Given the description of an element on the screen output the (x, y) to click on. 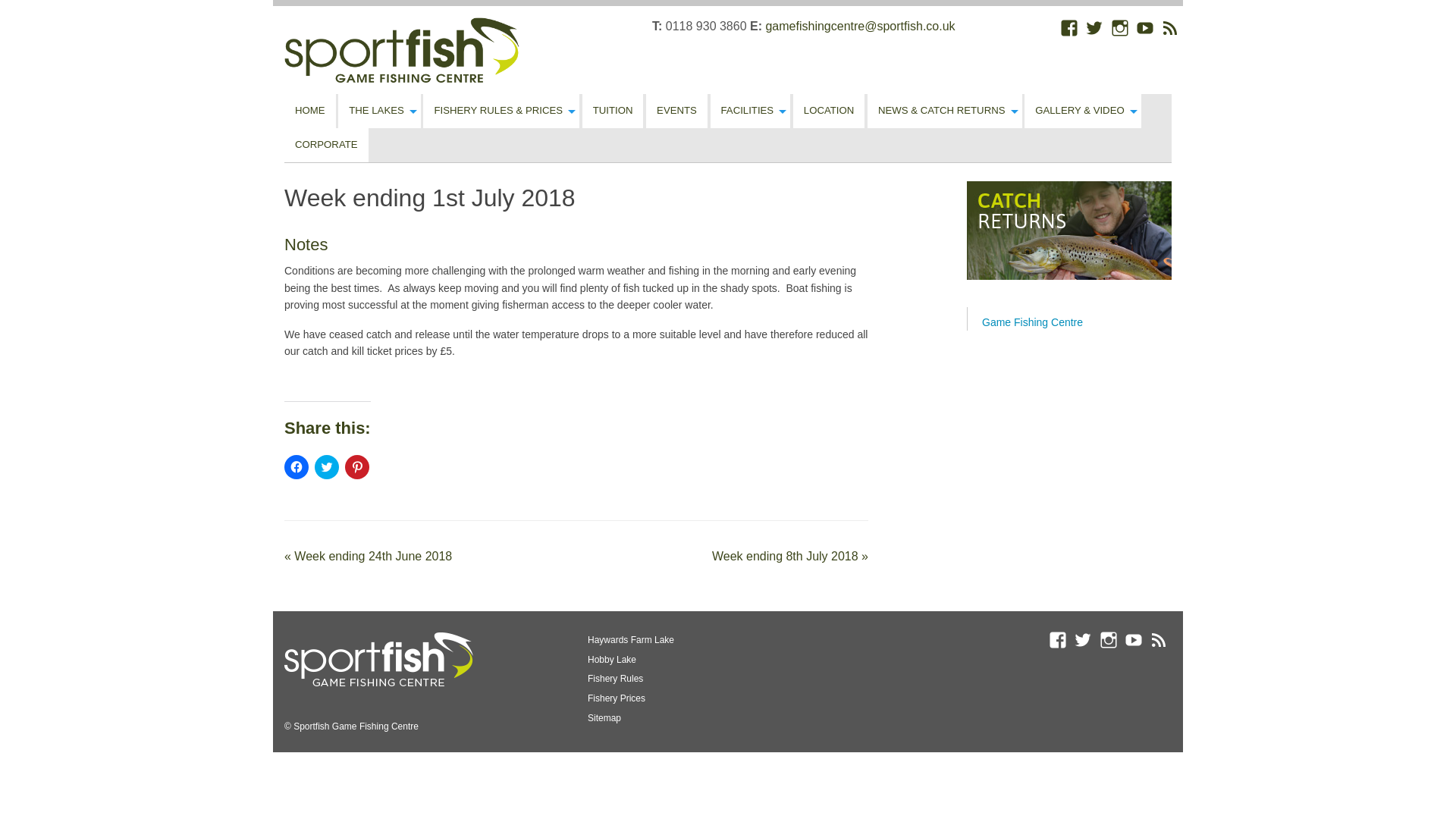
Game Fishing Centre (1032, 322)
Twitter (1095, 27)
Instagram (1121, 27)
LOCATION (828, 110)
Click to share on Twitter (326, 467)
FACILITIES (750, 110)
Click to share on Pinterest (357, 467)
Catch Returns (1069, 230)
EVENTS (676, 110)
THE LAKES (378, 110)
